Given the description of an element on the screen output the (x, y) to click on. 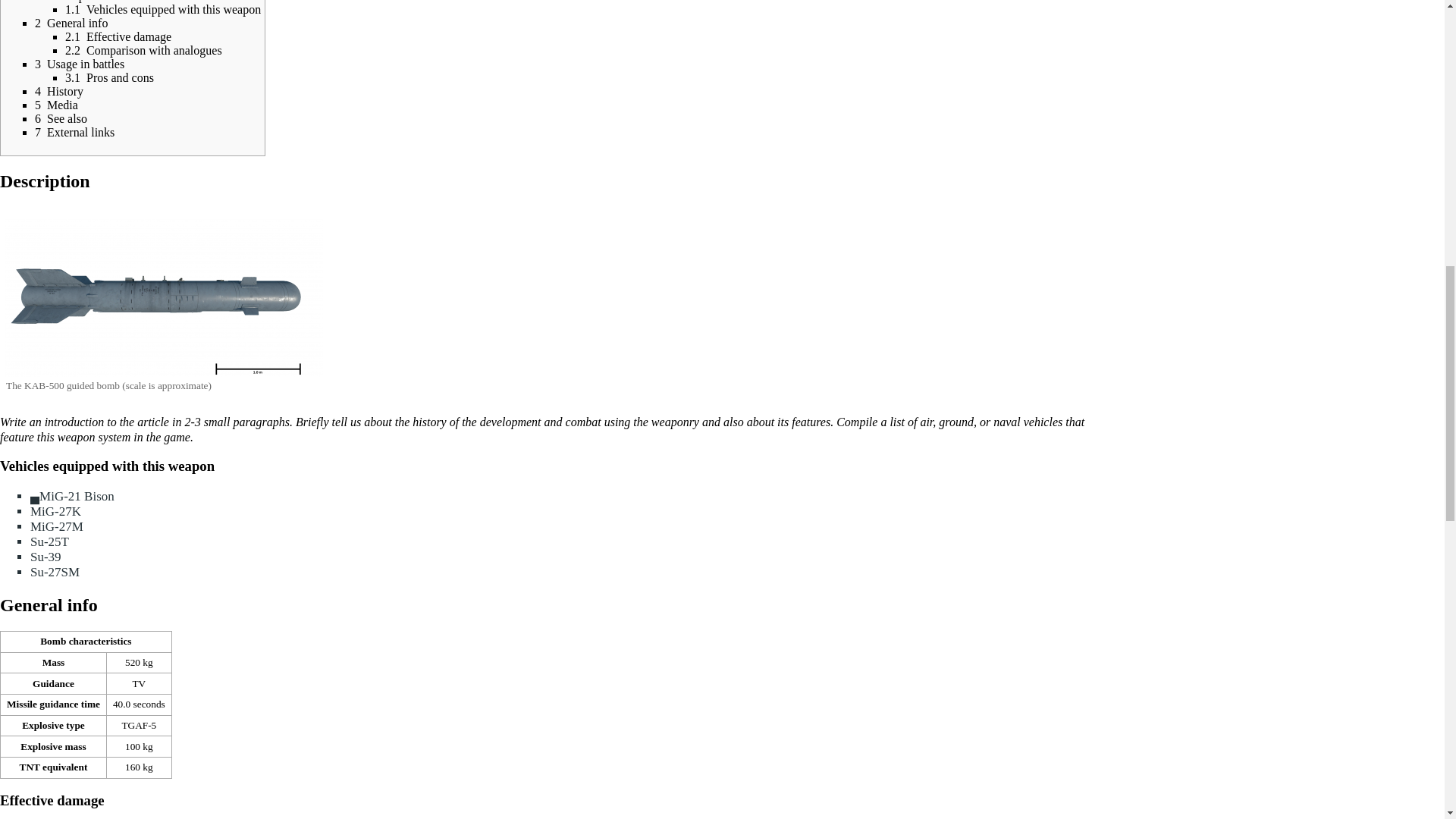
3 Usage in battles (78, 63)
1.1 Vehicles equipped with this weapon (162, 9)
2.1 Effective damage (118, 36)
1 Description (68, 1)
2 General info (70, 22)
2.2 Comparison with analogues (143, 50)
